Given the description of an element on the screen output the (x, y) to click on. 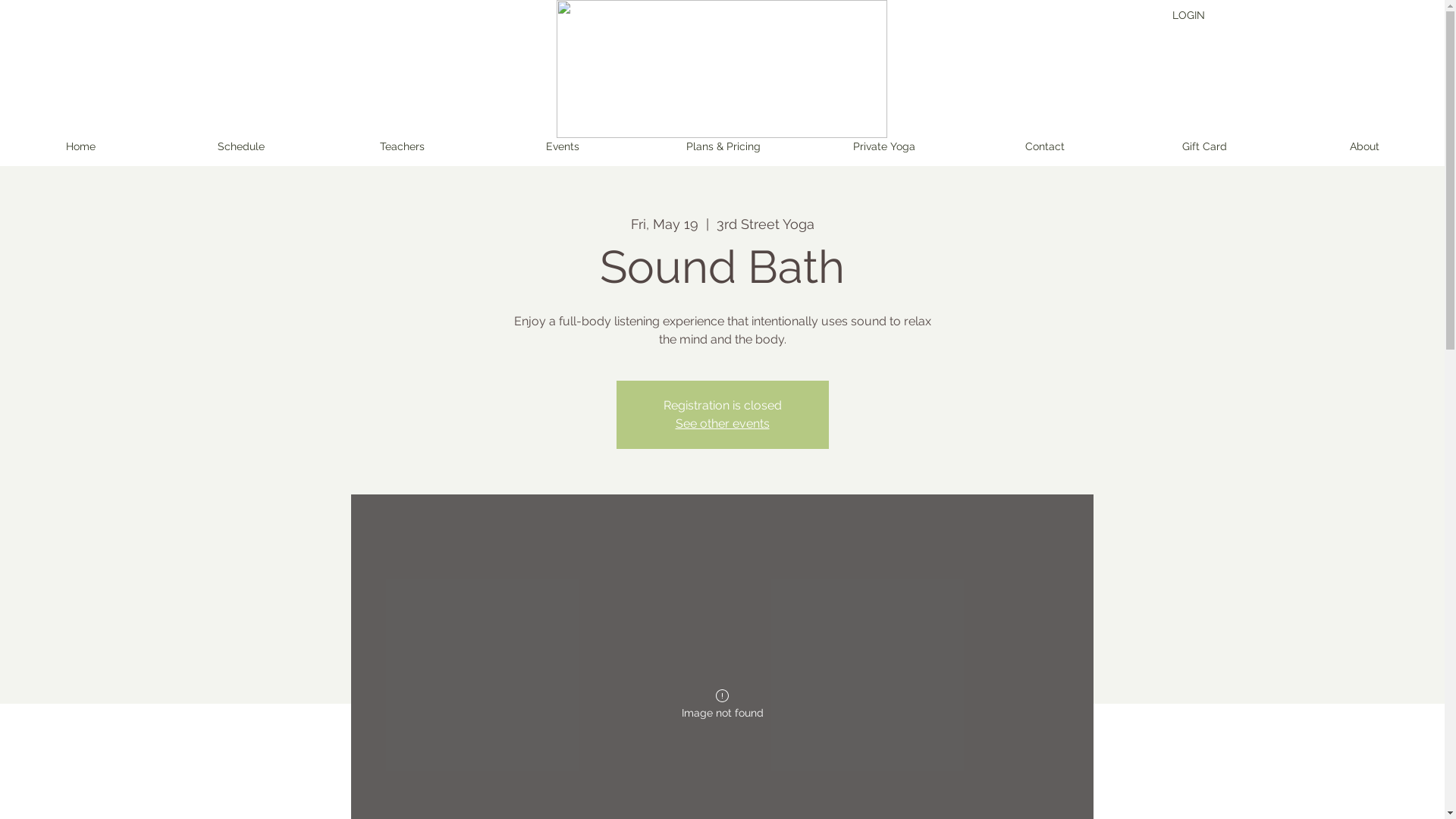
Contact Element type: text (1044, 146)
Events Element type: text (562, 146)
About Element type: text (1364, 146)
Home Element type: text (80, 146)
Gift Card Element type: text (1204, 146)
See other events Element type: text (721, 423)
Teachers Element type: text (401, 146)
Schedule Element type: text (240, 146)
Private Yoga Element type: text (883, 146)
Plans & Pricing Element type: text (723, 146)
LOGIN Element type: text (1188, 14)
